Given the description of an element on the screen output the (x, y) to click on. 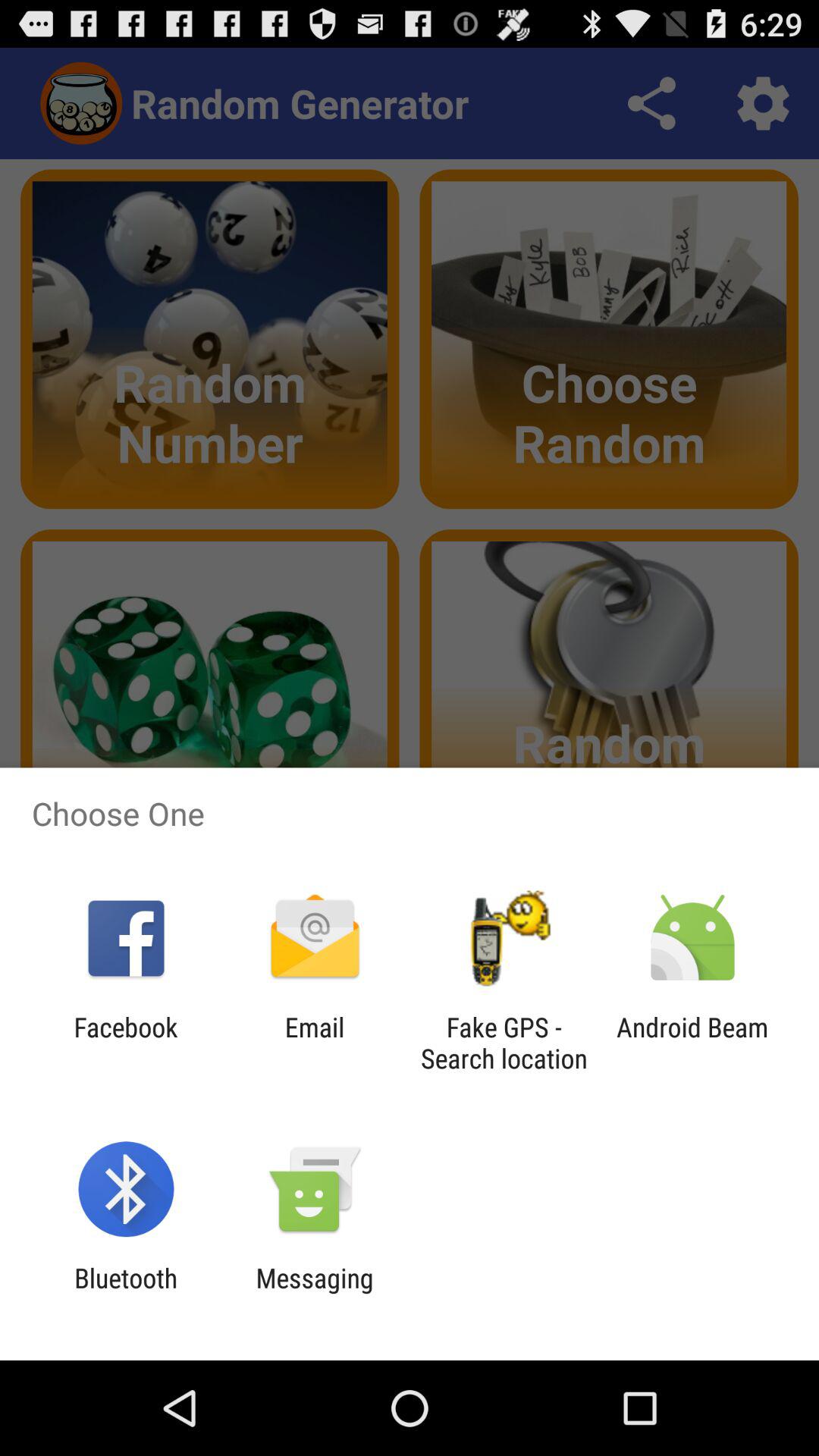
click the messaging app (314, 1293)
